Given the description of an element on the screen output the (x, y) to click on. 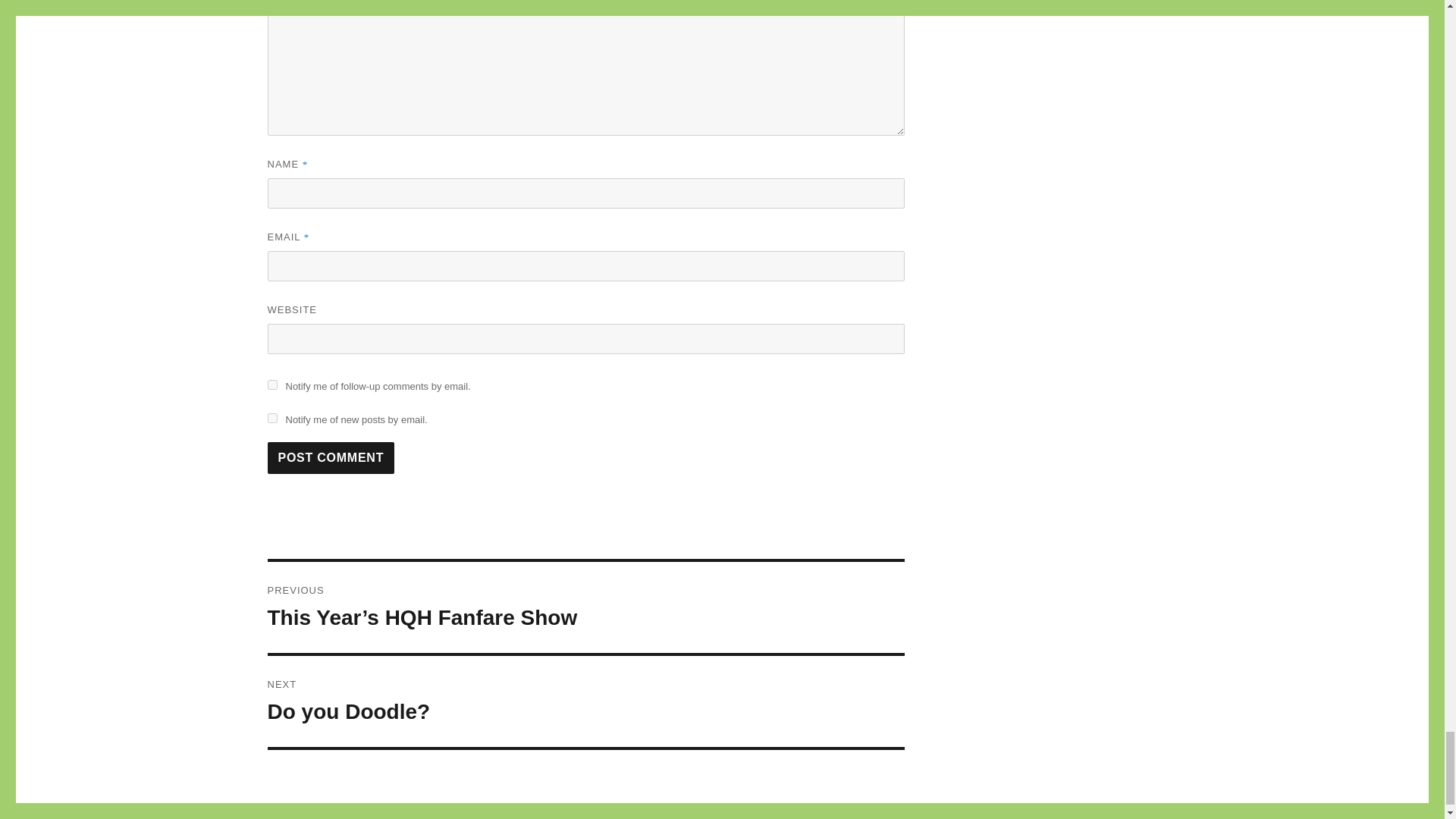
subscribe (271, 384)
Post Comment (330, 458)
subscribe (271, 418)
